Given the description of an element on the screen output the (x, y) to click on. 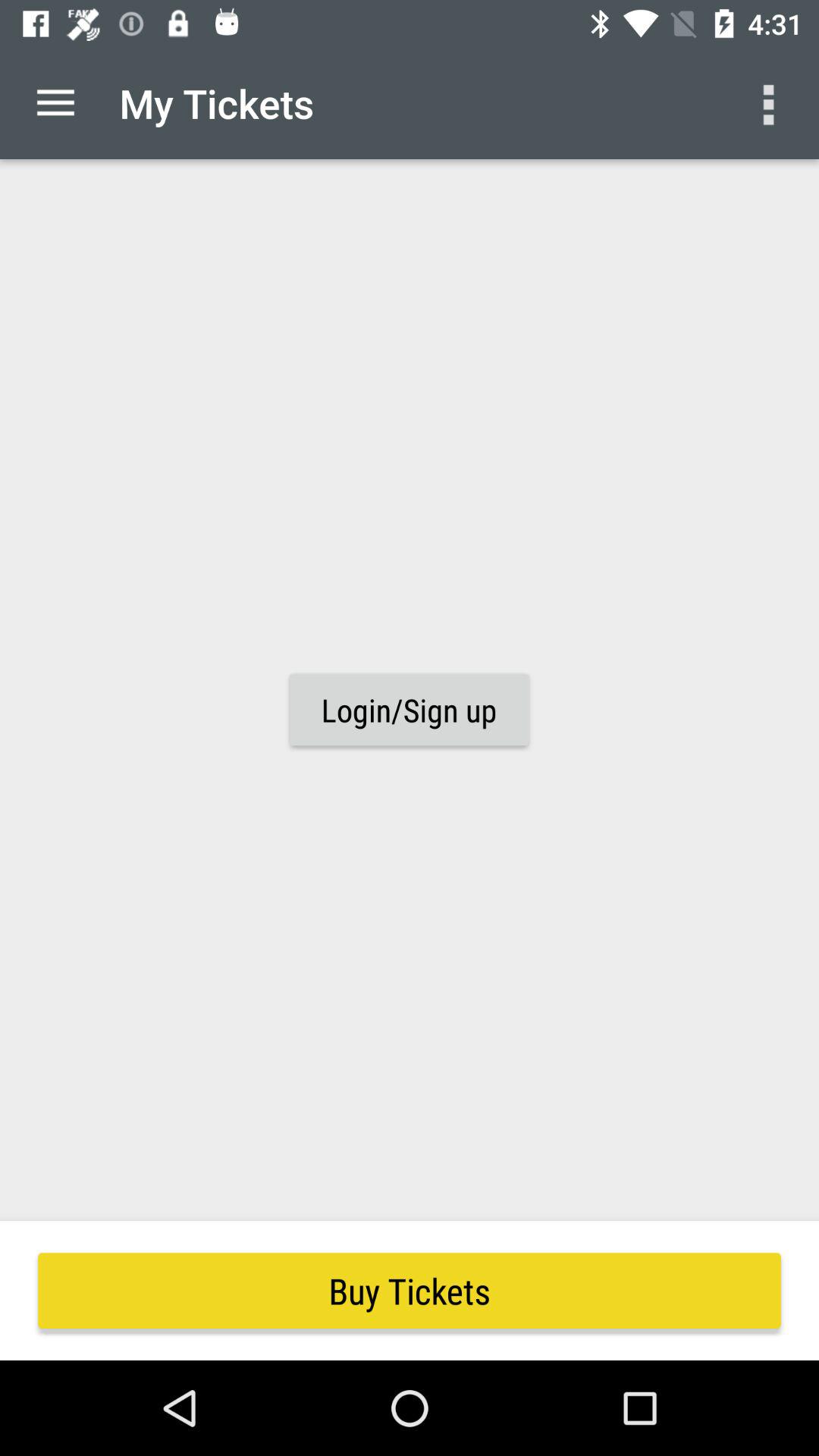
launch the login/sign up (408, 709)
